Given the description of an element on the screen output the (x, y) to click on. 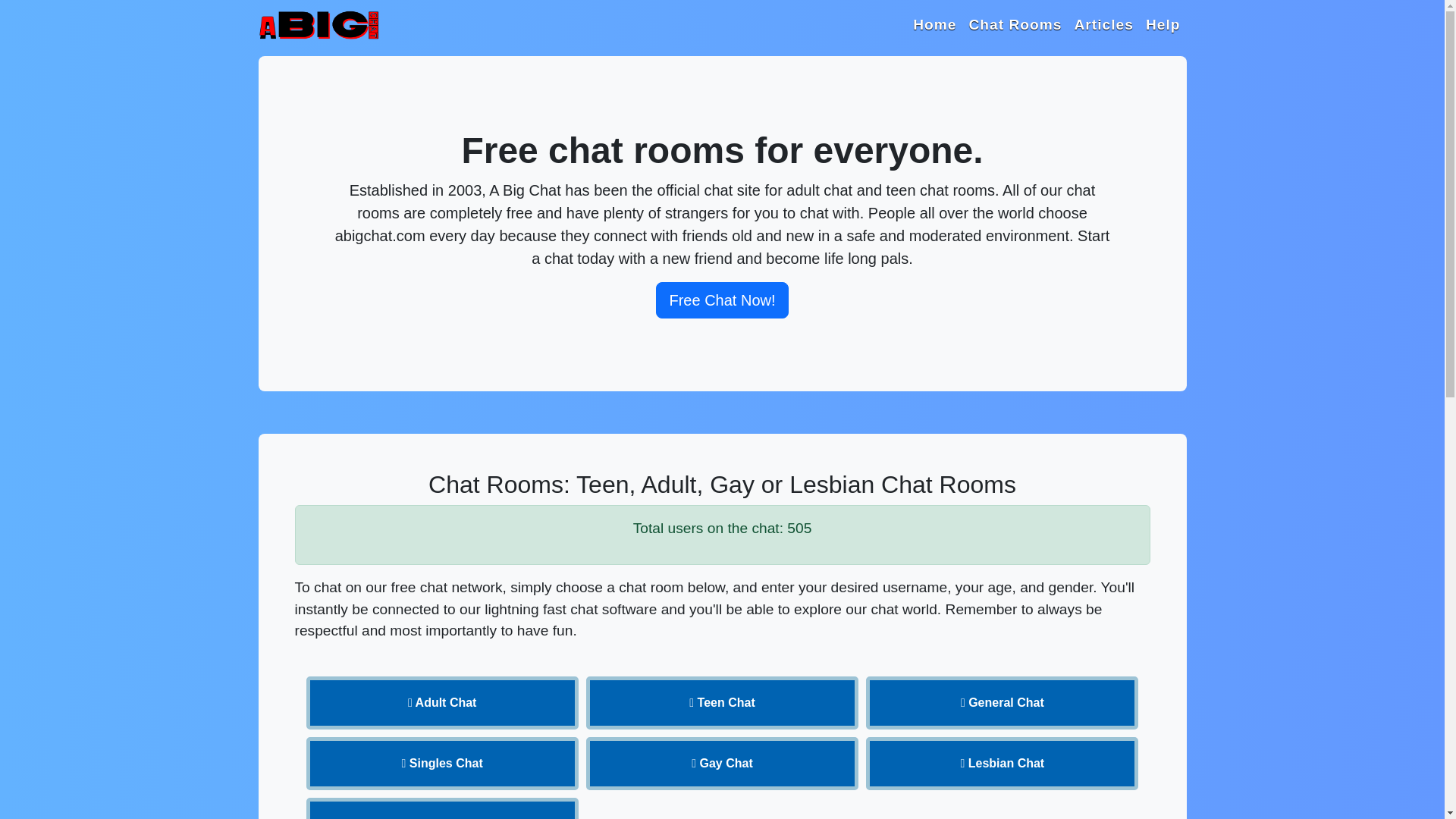
Roleplay Chat Room (441, 808)
Lesbian Chat Room (1002, 763)
Home (934, 25)
Singles Chat Room (441, 763)
Teen Chat (722, 702)
General Chat Room (1002, 702)
Lesbian Chat (1002, 763)
Chat Rooms (1015, 25)
Free Chat Now! (721, 299)
Adult Chat (441, 702)
Adult Chat Room (441, 702)
Singles Chat (441, 763)
Teen Chat Room (722, 702)
Gay Chat (722, 763)
Roleplay Chat (441, 808)
